Given the description of an element on the screen output the (x, y) to click on. 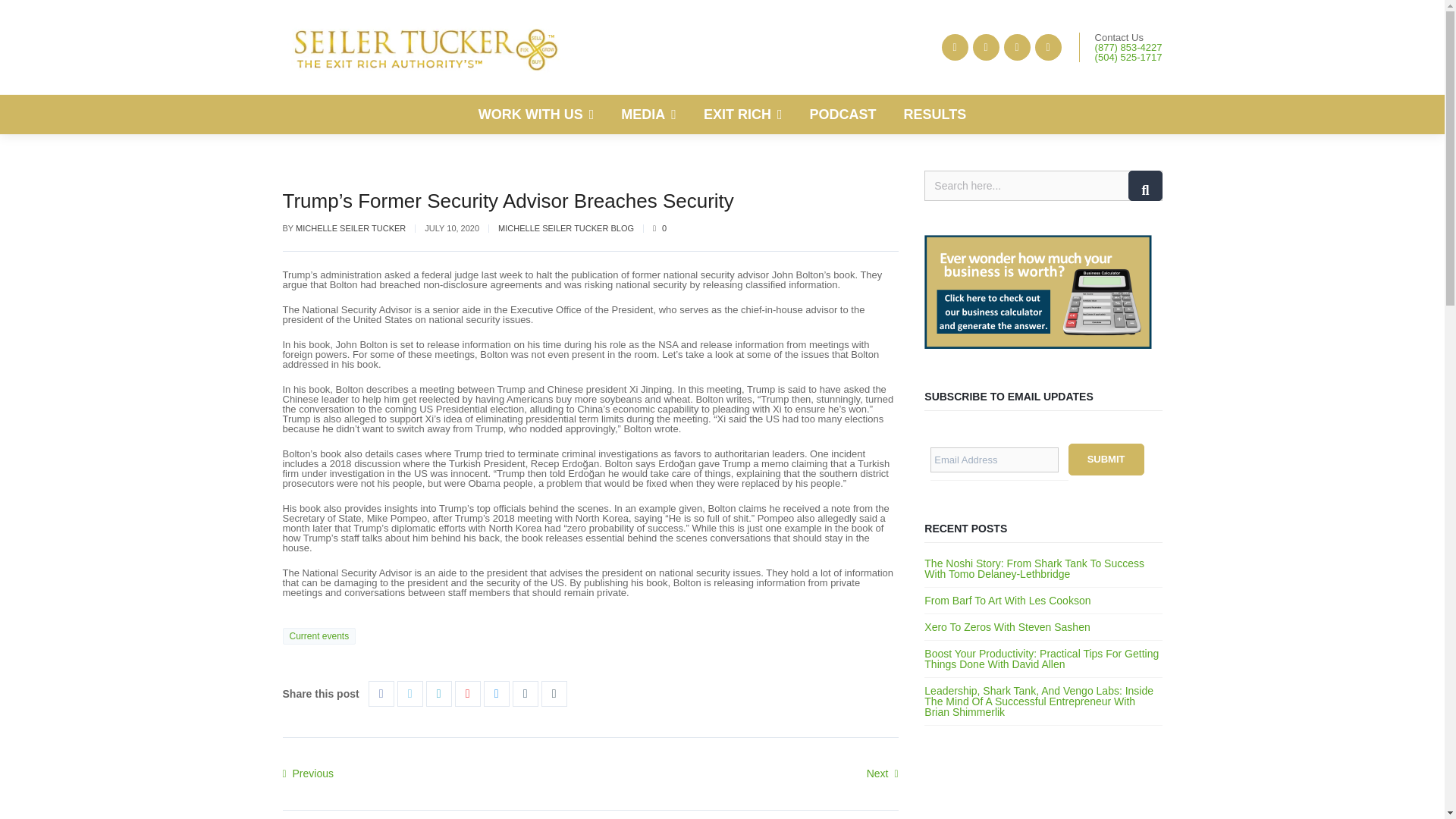
 Follow on Twitter (955, 47)
Share on LinkedIn (438, 693)
MEDIA (648, 114)
Share on Pinterest (467, 693)
 Follow on Instagram (1017, 47)
Search here... (1042, 185)
Share on Twitter (409, 693)
Search here... (1042, 185)
Seiler Tucker (426, 47)
EXIT RICH (743, 114)
